Given the description of an element on the screen output the (x, y) to click on. 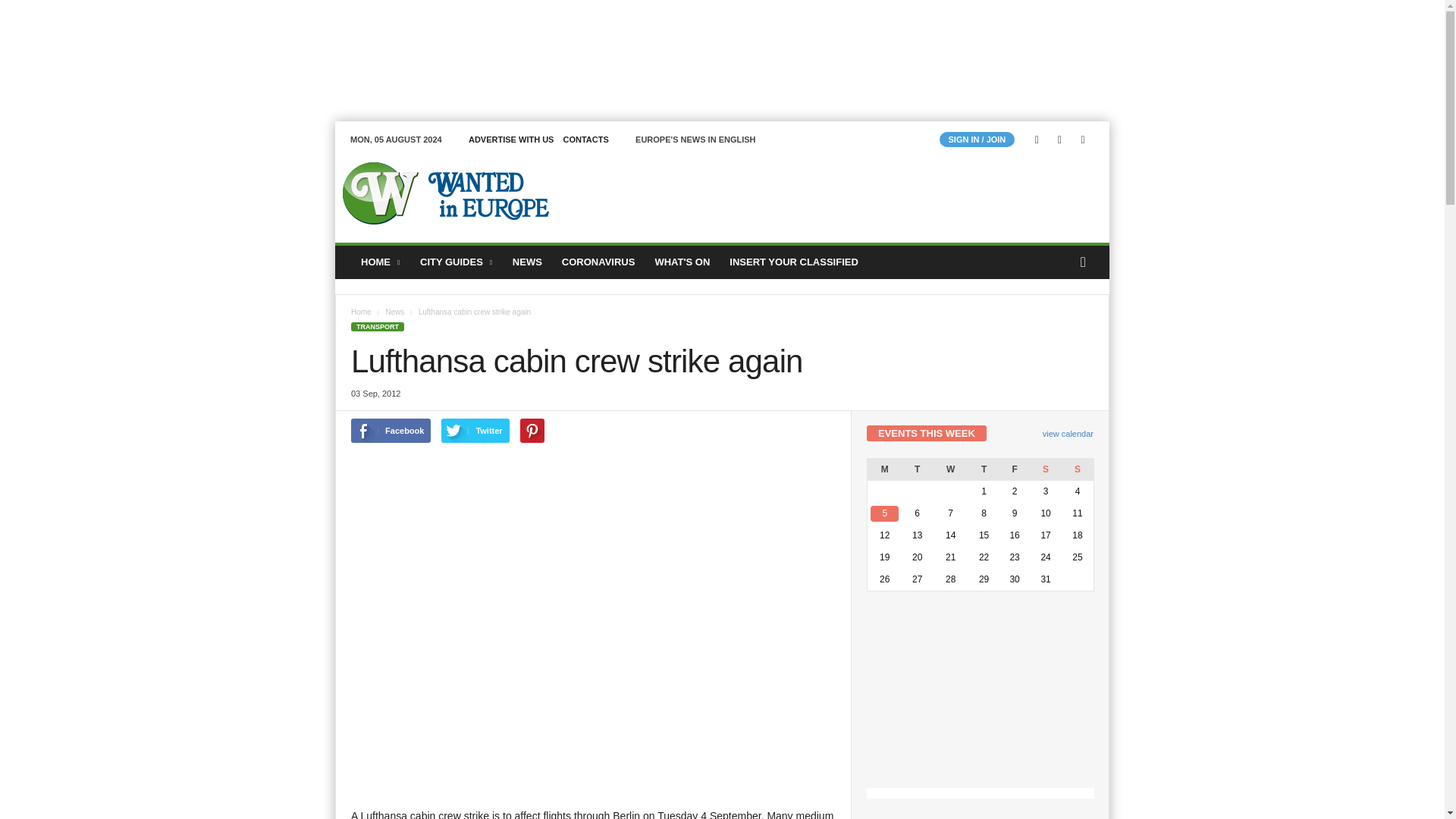
ADVERTISE WITH US (510, 139)
CONTACTS (585, 139)
Wanted in Europe (437, 192)
